Given the description of an element on the screen output the (x, y) to click on. 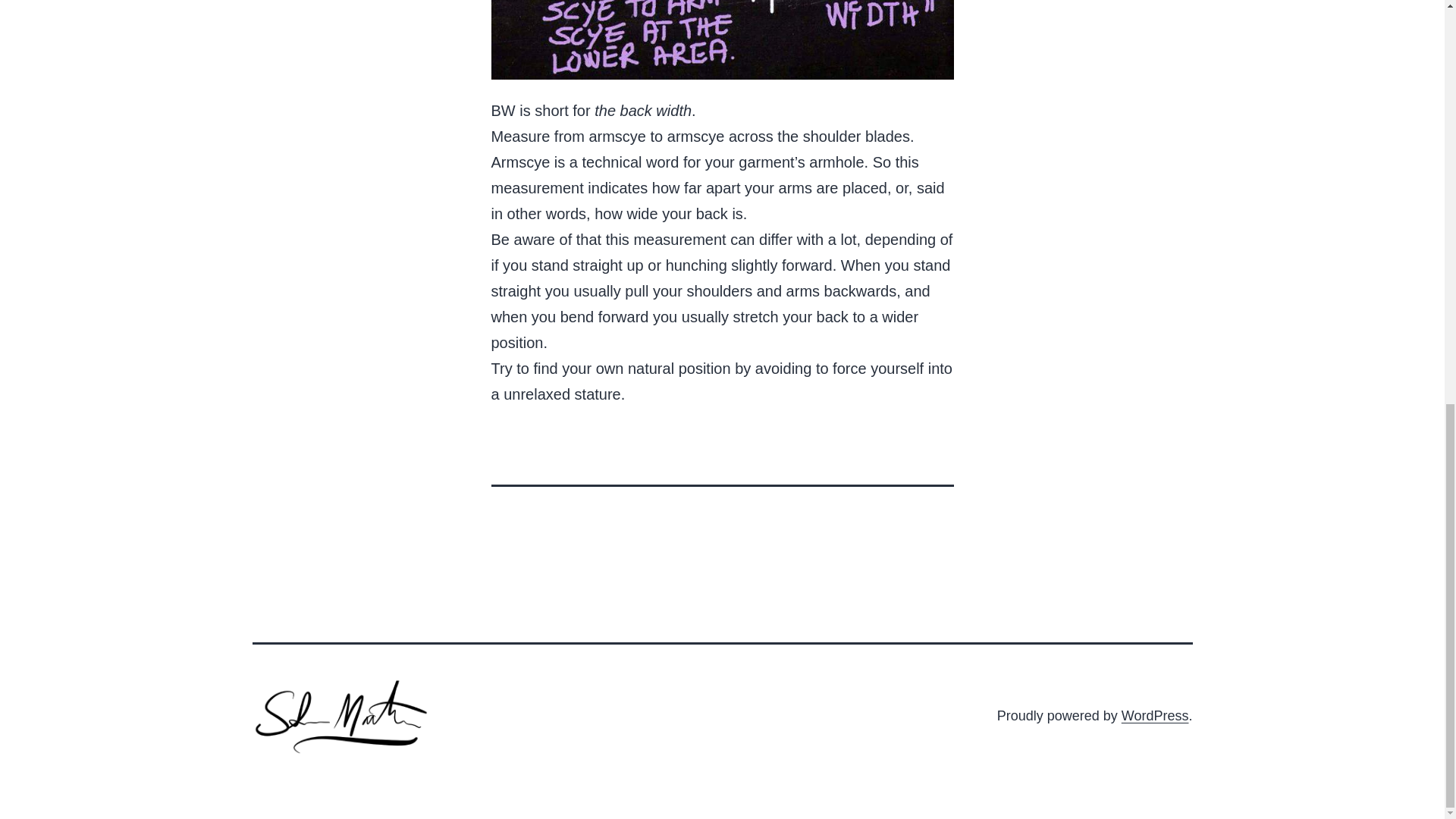
WordPress (1155, 715)
